Given the description of an element on the screen output the (x, y) to click on. 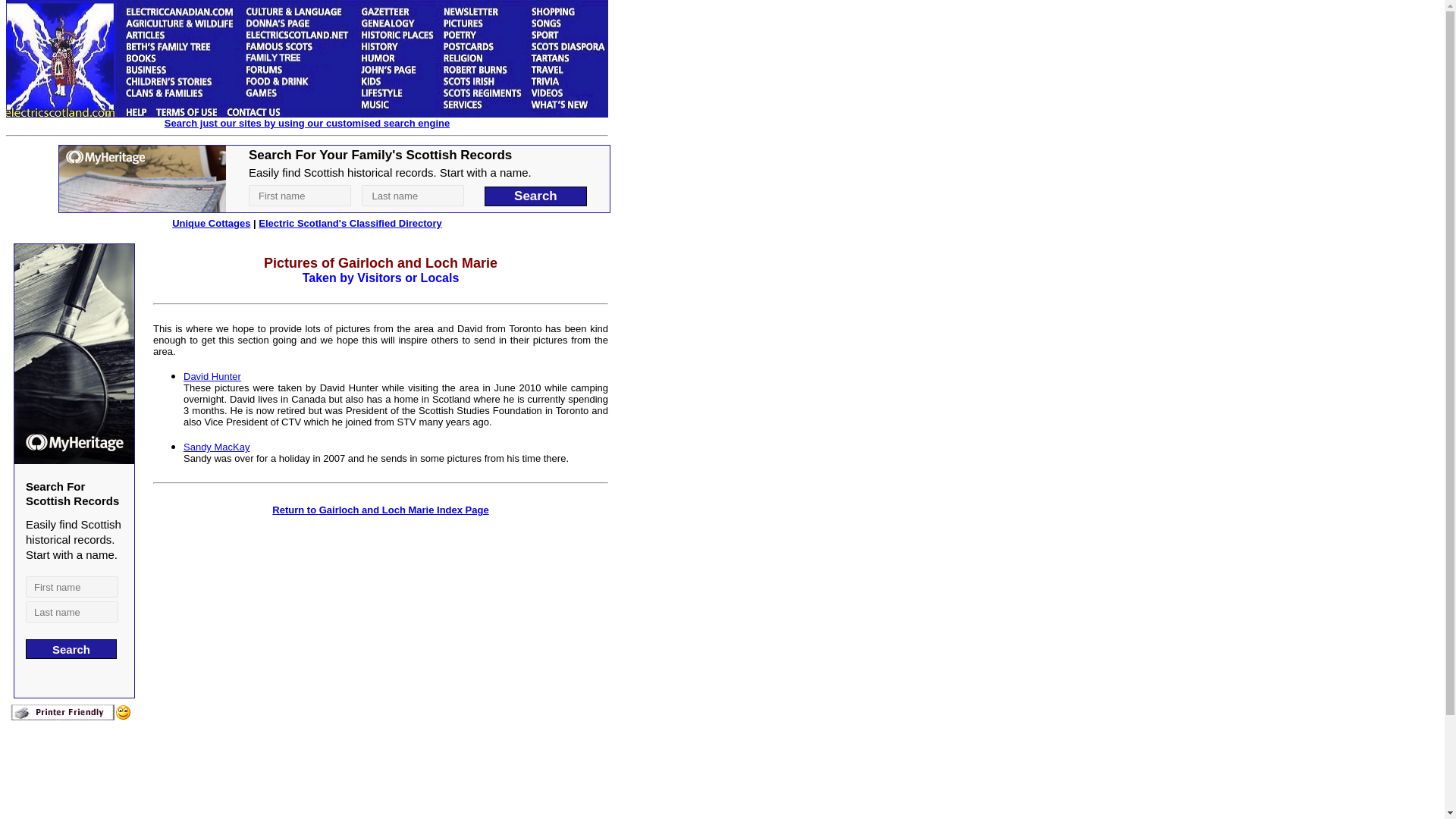
Sandy MacKay (215, 446)
Unique Cottages (210, 223)
Electric Scotland's Classified Directory (350, 223)
Return to Gairloch and Loch Marie Index Page (379, 509)
David Hunter (212, 376)
advertisement (334, 178)
Search just our sites by using our customised search engine (306, 122)
